Given the description of an element on the screen output the (x, y) to click on. 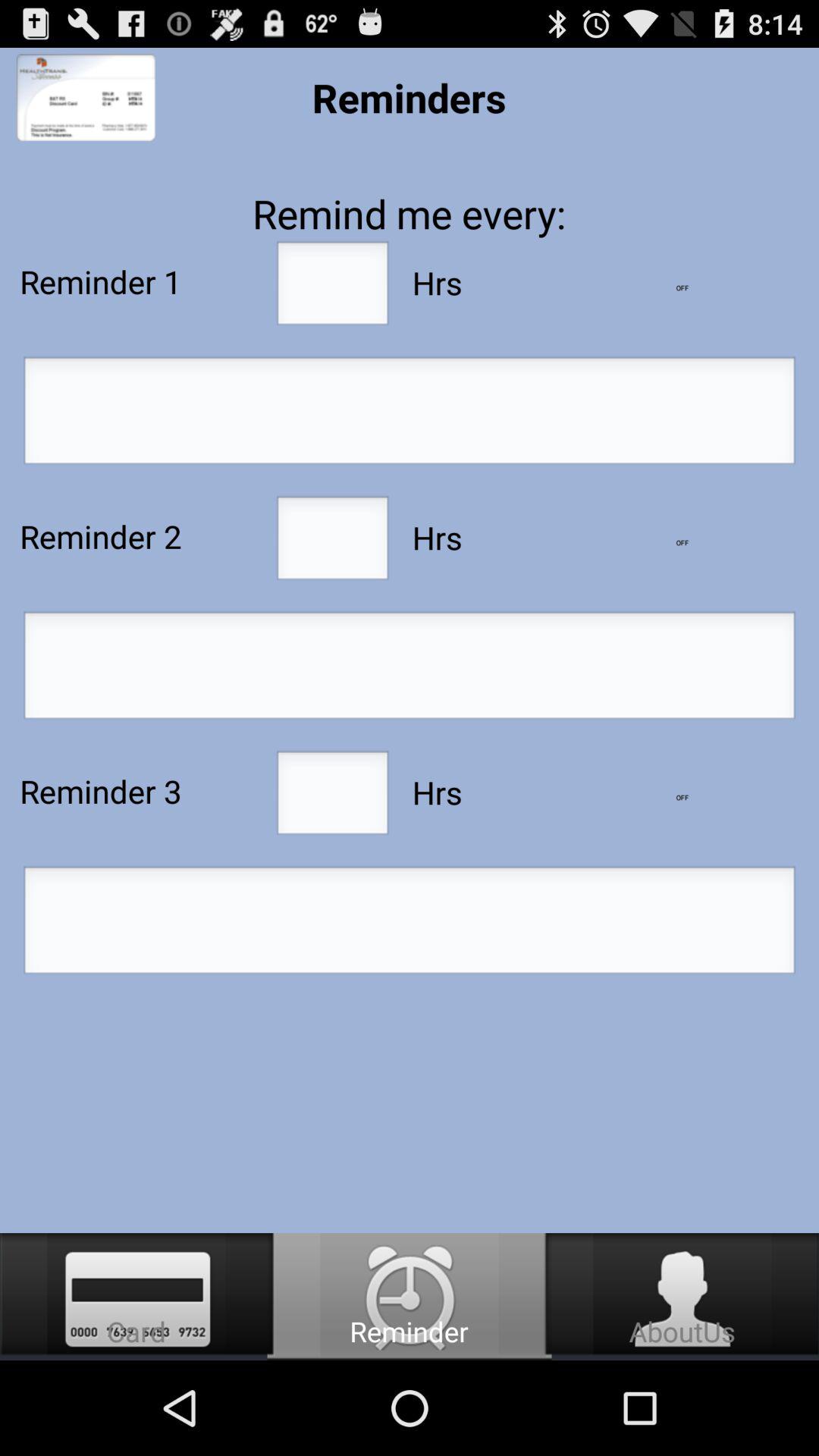
reminder 1 hour input field (332, 287)
